Given the description of an element on the screen output the (x, y) to click on. 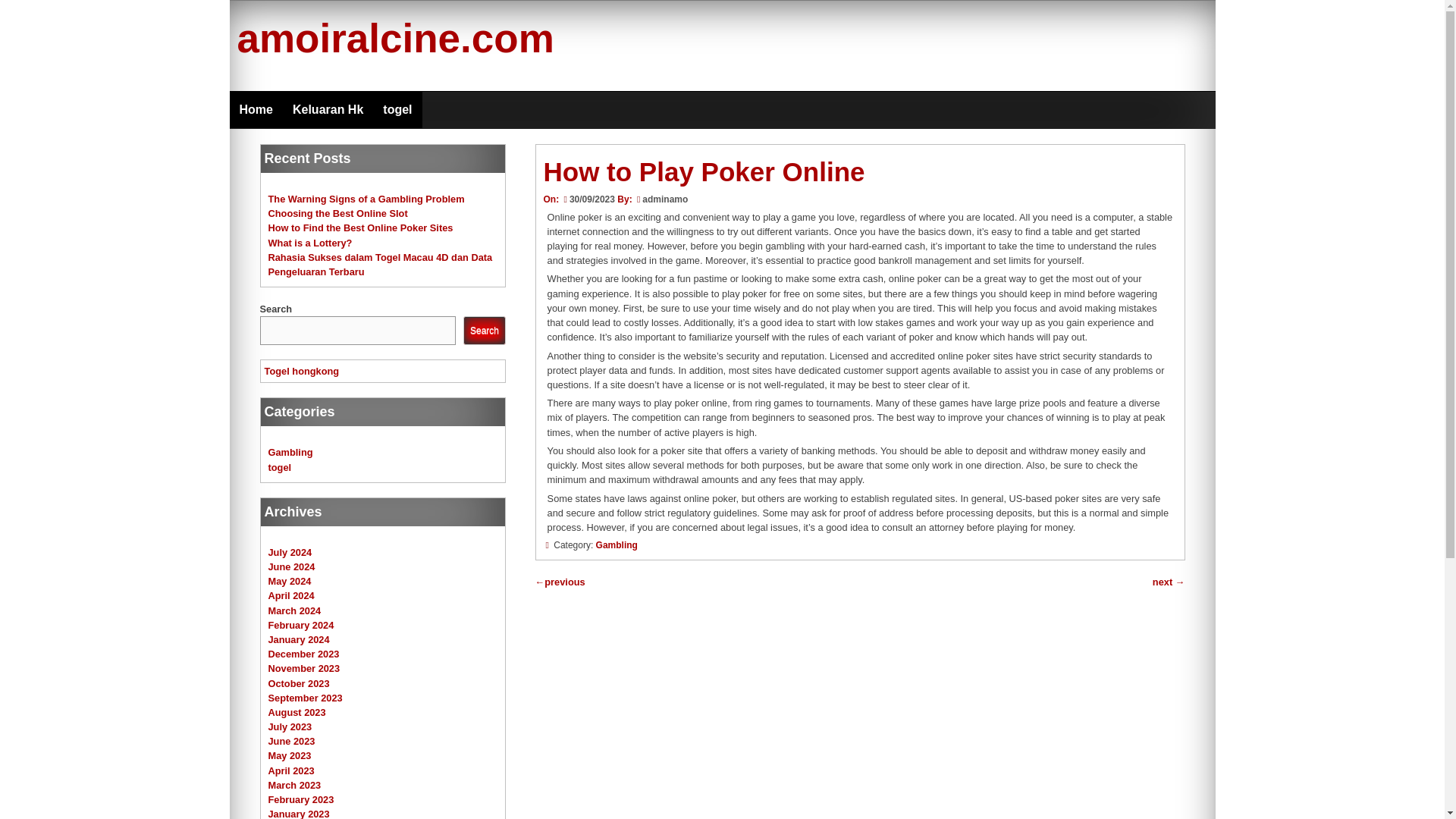
adminamo (664, 199)
March 2024 (294, 610)
Choosing the Best Online Slot (337, 213)
January 2023 (298, 813)
February 2024 (300, 624)
May 2023 (289, 755)
Togel hongkong (301, 370)
July 2023 (290, 726)
April 2024 (290, 595)
How to Find the Best Online Poker Sites (359, 227)
amoiralcine.com (394, 37)
Gambling (290, 451)
March 2023 (294, 785)
togel (279, 467)
June 2023 (291, 740)
